Given the description of an element on the screen output the (x, y) to click on. 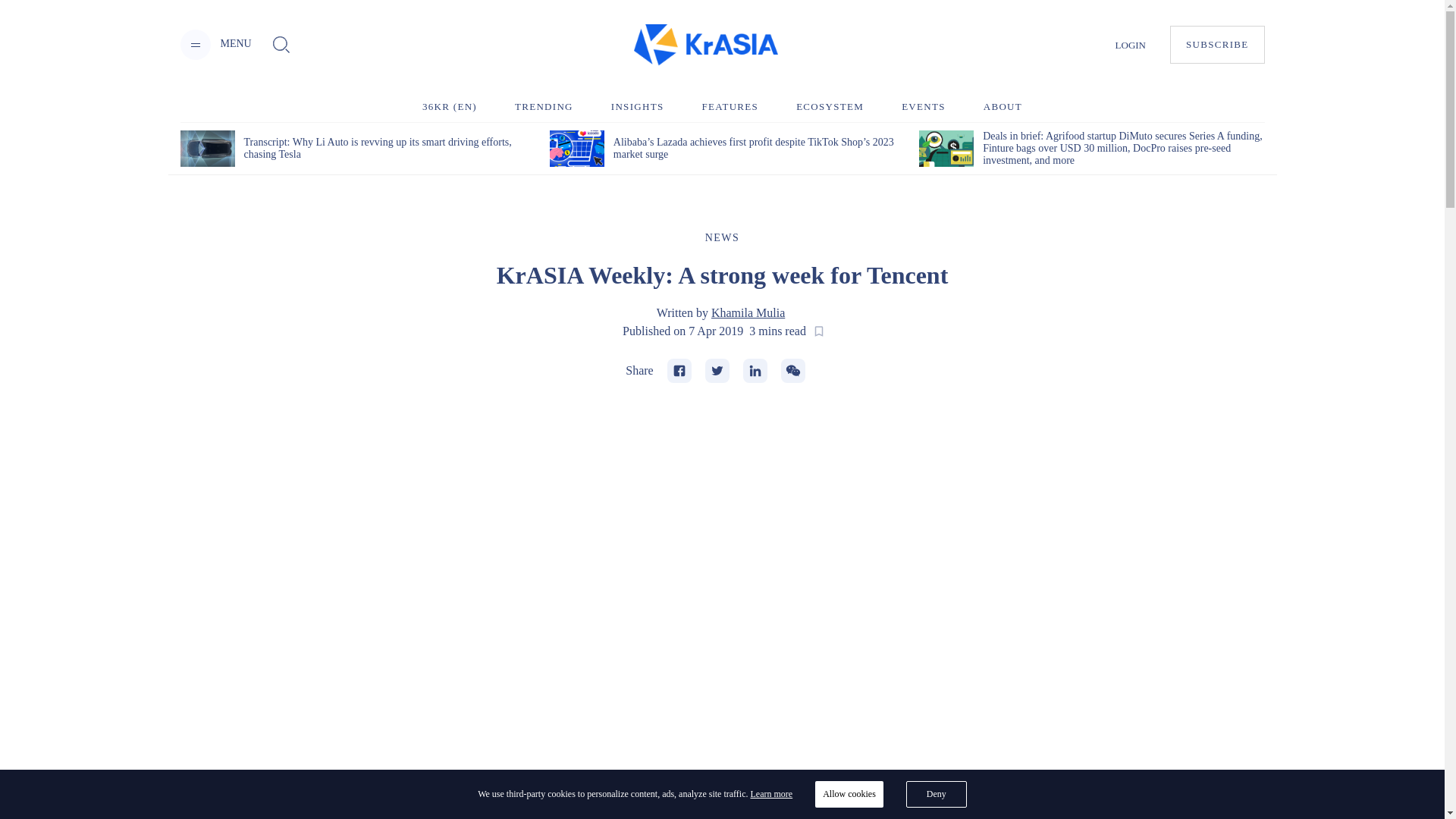
LOGIN (1130, 44)
NEWS (721, 237)
Khamila Mulia (747, 312)
FEATURES (729, 106)
ECOSYSTEM (829, 106)
SUBSCRIBE (1217, 44)
ABOUT (1003, 106)
KrASIA Homepage (705, 45)
